Given the description of an element on the screen output the (x, y) to click on. 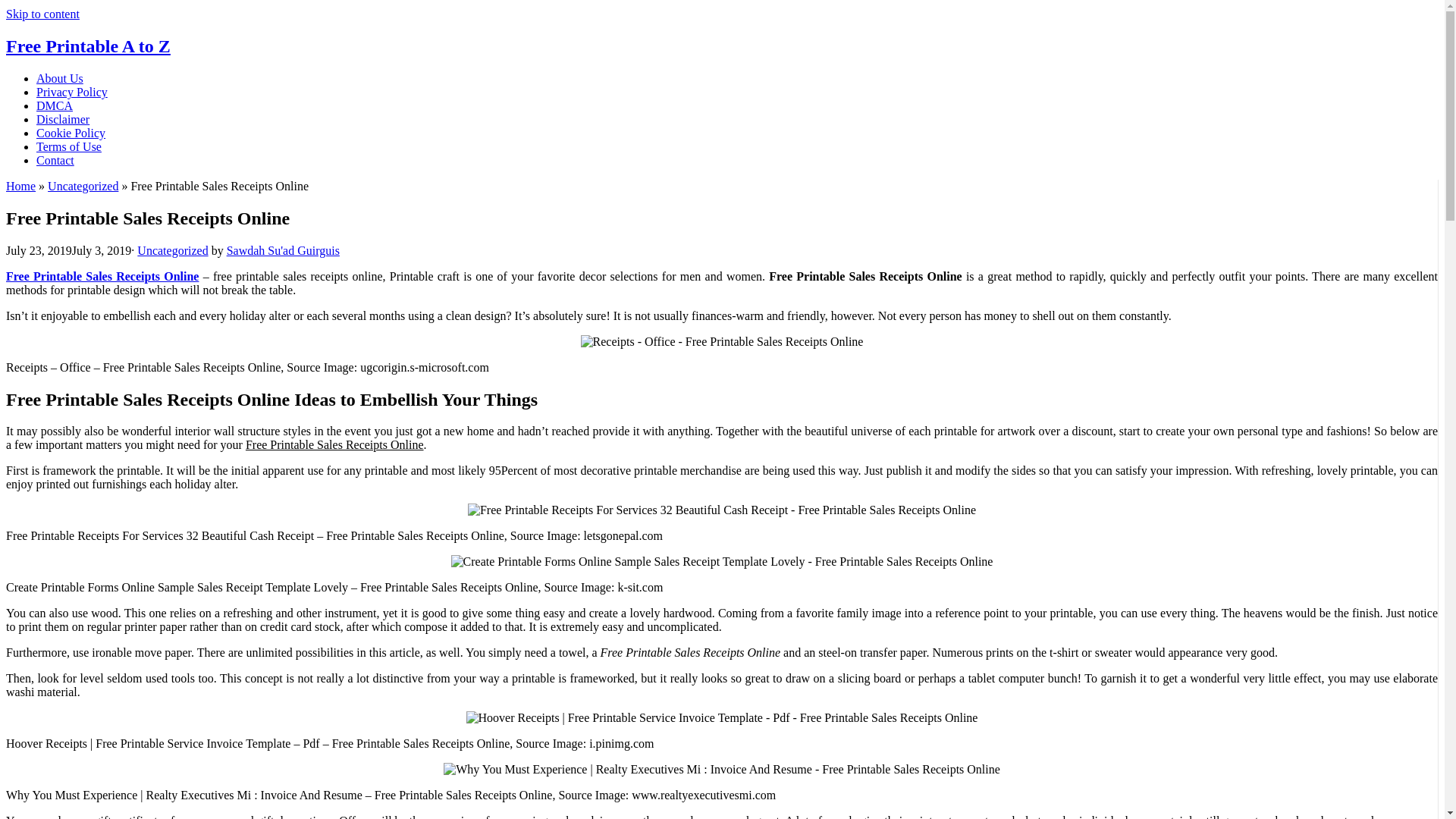
Free Printable A to Z (87, 46)
Skip to content (42, 13)
Privacy Policy (71, 91)
Sawdah Su'ad Guirguis (283, 250)
Free Printable Sales Receipts Online (101, 276)
About Us (59, 78)
Uncategorized (82, 185)
receipts office free printable sales receipts online (721, 341)
